Given the description of an element on the screen output the (x, y) to click on. 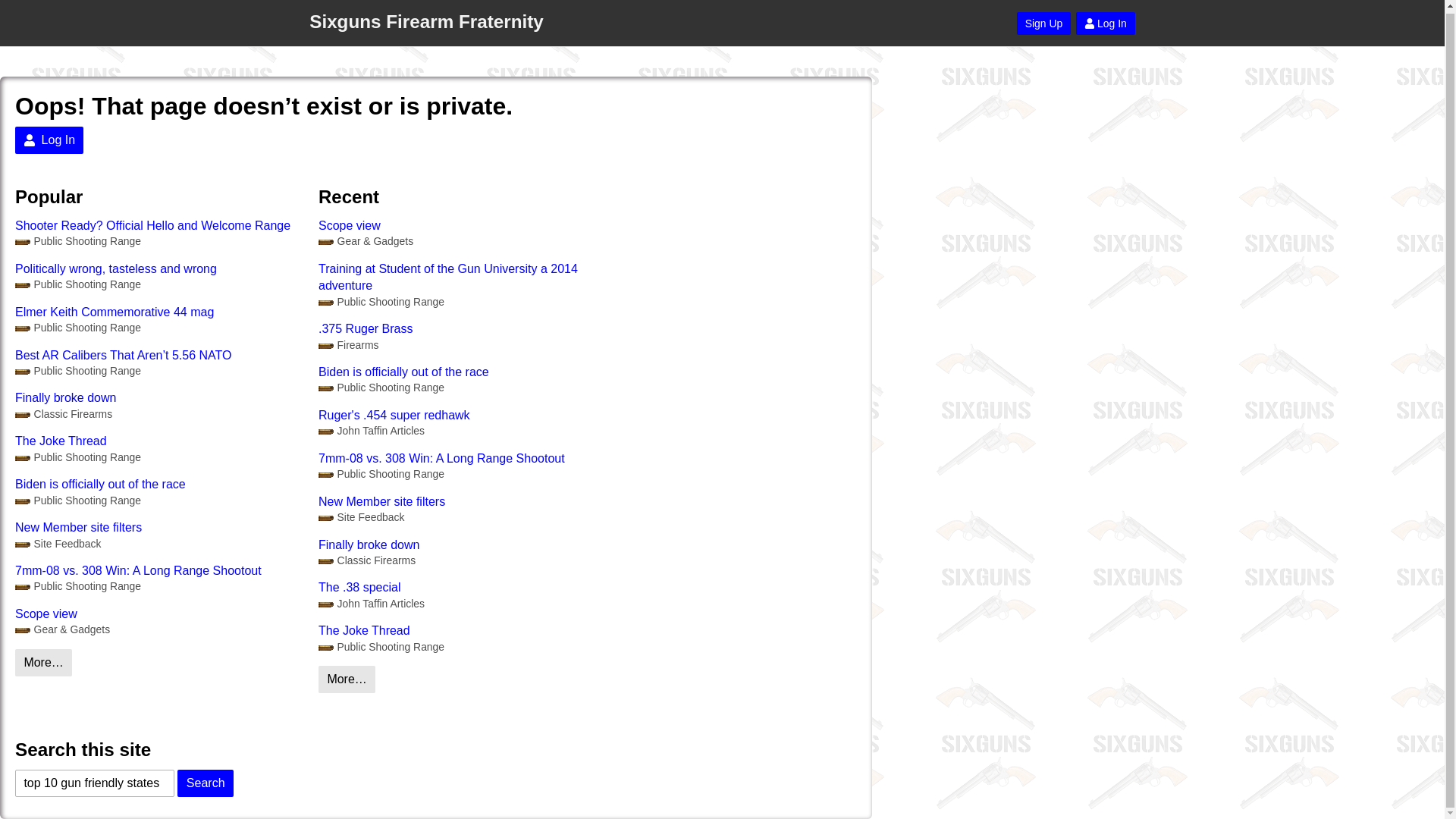
Public Shooting Range (381, 387)
Scope view (462, 225)
General Discussion Area (77, 457)
General Discussion Area (381, 387)
General Discussion Area (381, 646)
Public Shooting Range (77, 284)
top 10 gun friendly states (94, 782)
Public Shooting Range (77, 457)
The Joke Thread (158, 441)
Share your success stories here, or, the not so successful (62, 629)
Ruger's .454 super redhawk (462, 415)
Log In (48, 139)
Public Shooting Range (77, 241)
Elmer Keith Commemorative 44 mag (158, 312)
General Discussion Area (77, 586)
